Given the description of an element on the screen output the (x, y) to click on. 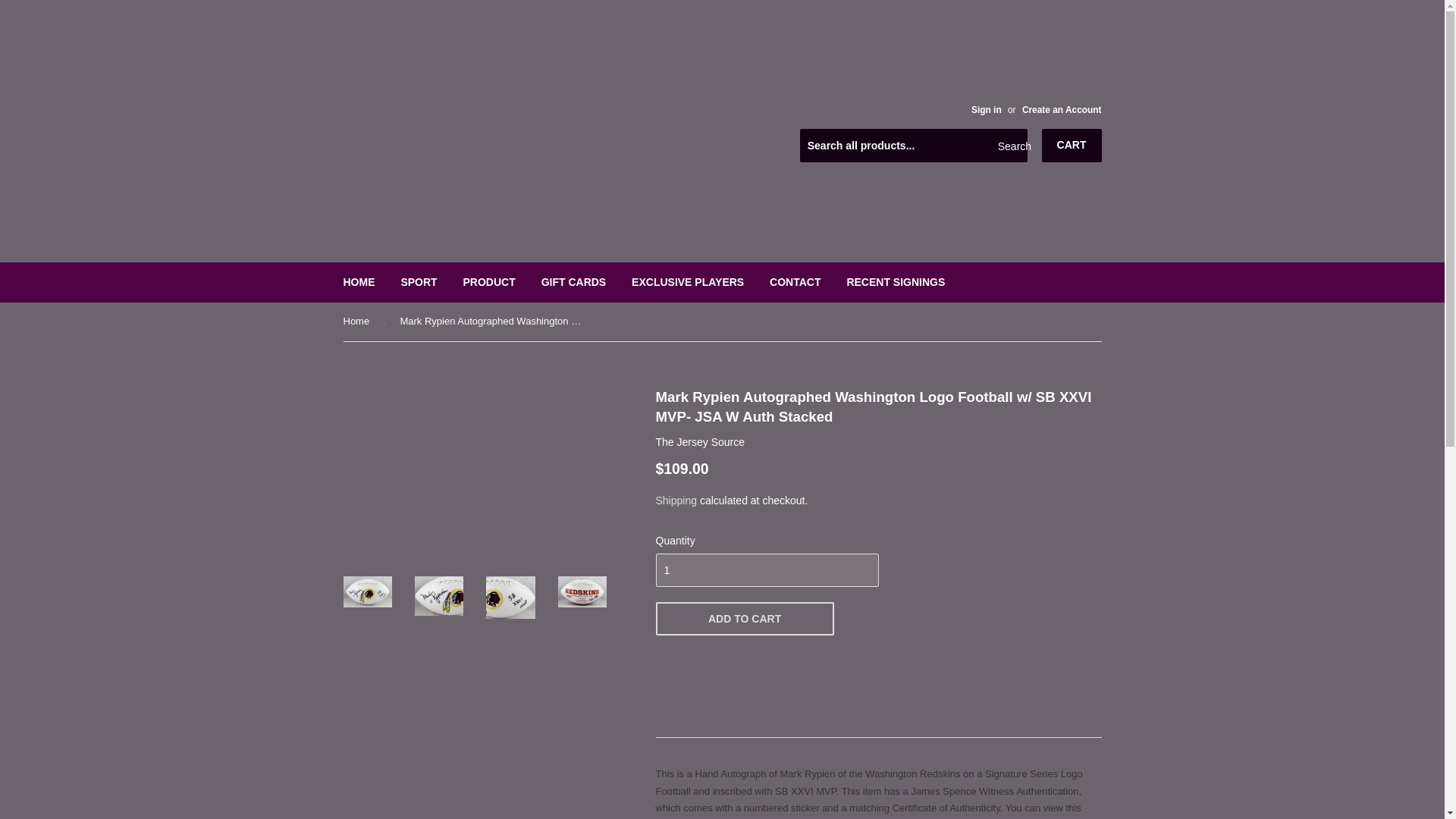
Create an Account (1062, 109)
1 (766, 570)
Search (1009, 146)
Sign in (986, 109)
CART (1072, 145)
